Given the description of an element on the screen output the (x, y) to click on. 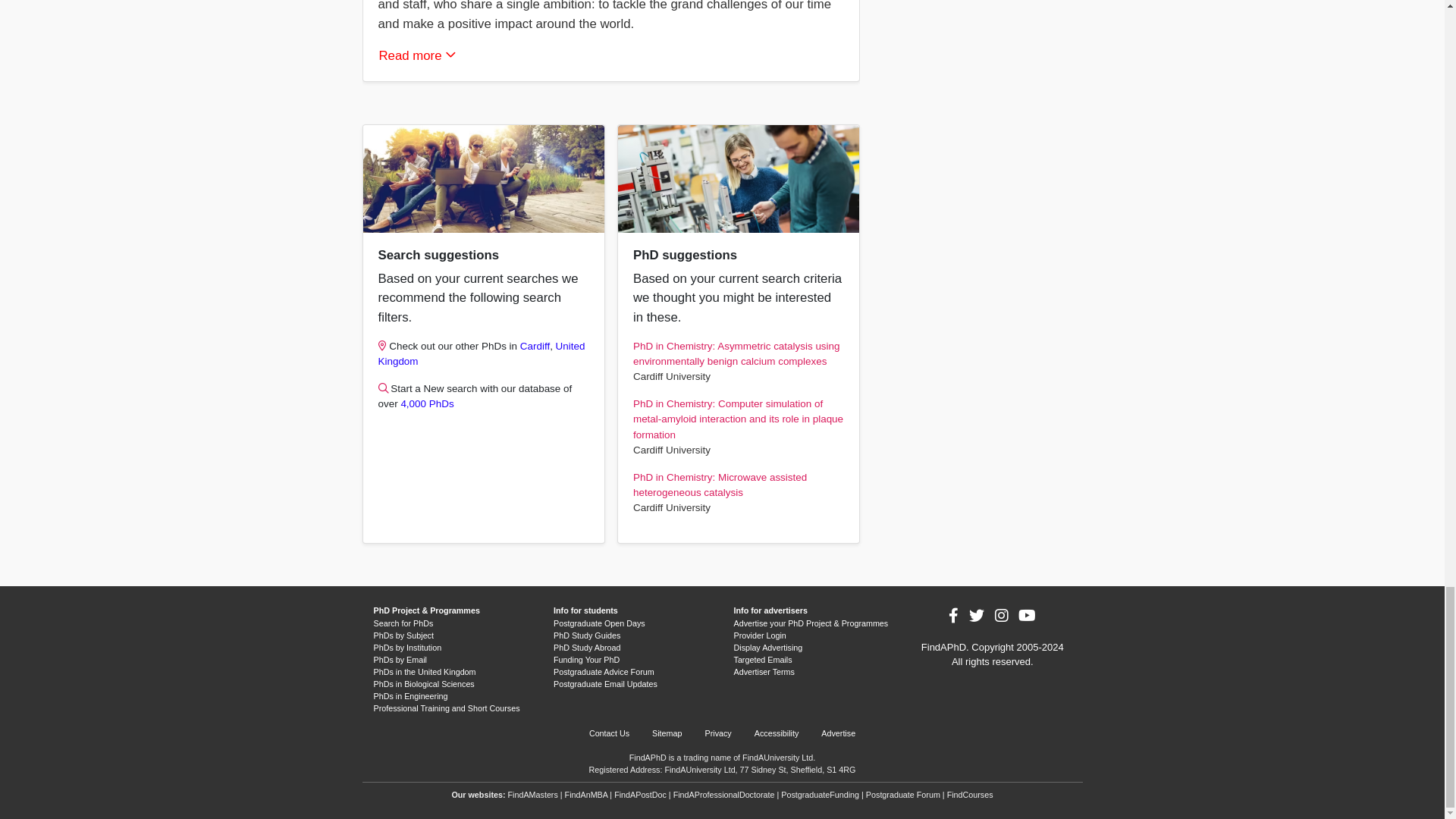
View all courses in Cardiff (534, 346)
View all courses in United Kingdom (481, 353)
